Given the description of an element on the screen output the (x, y) to click on. 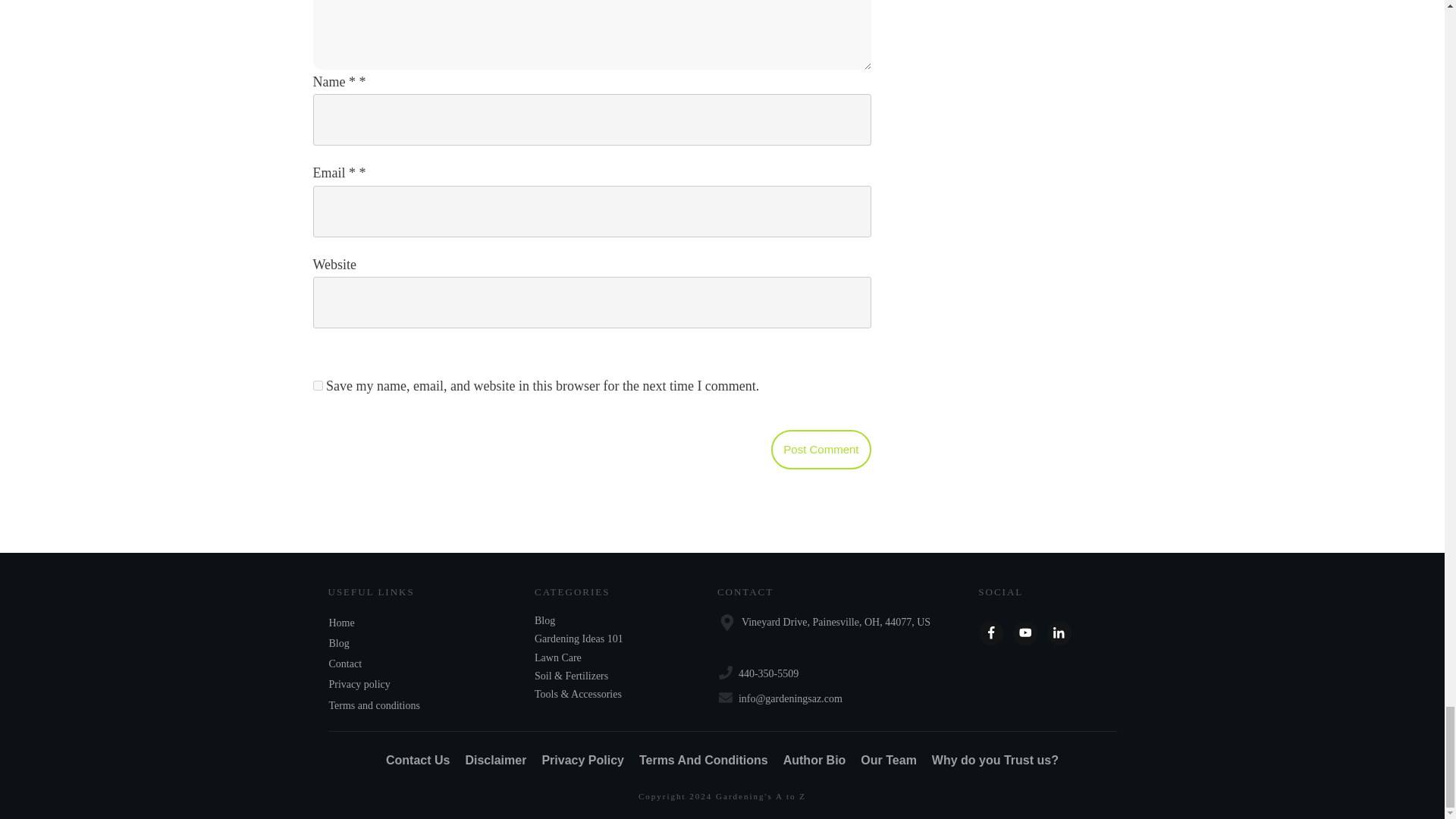
yes (317, 385)
Post Comment (820, 449)
